Given the description of an element on the screen output the (x, y) to click on. 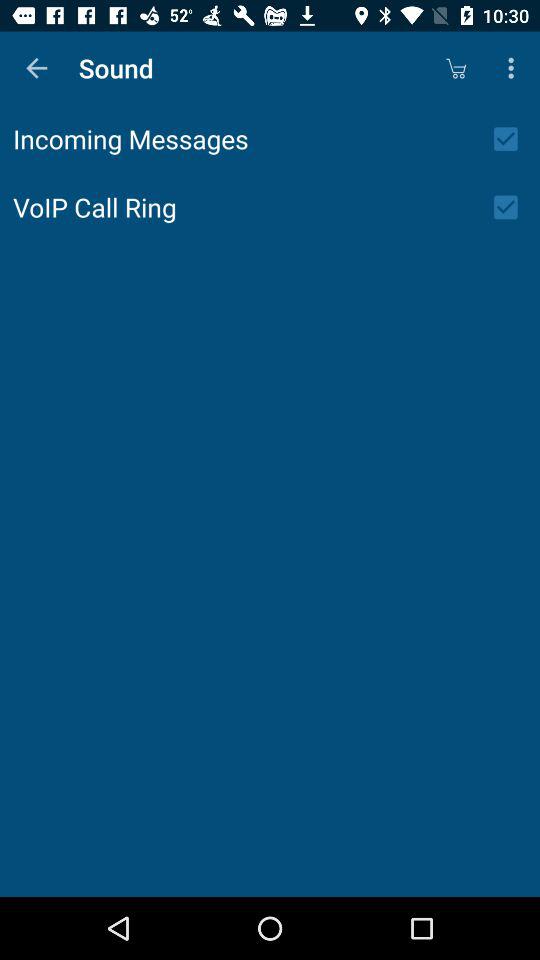
click the icon to the right of voip call ring (512, 207)
